Given the description of an element on the screen output the (x, y) to click on. 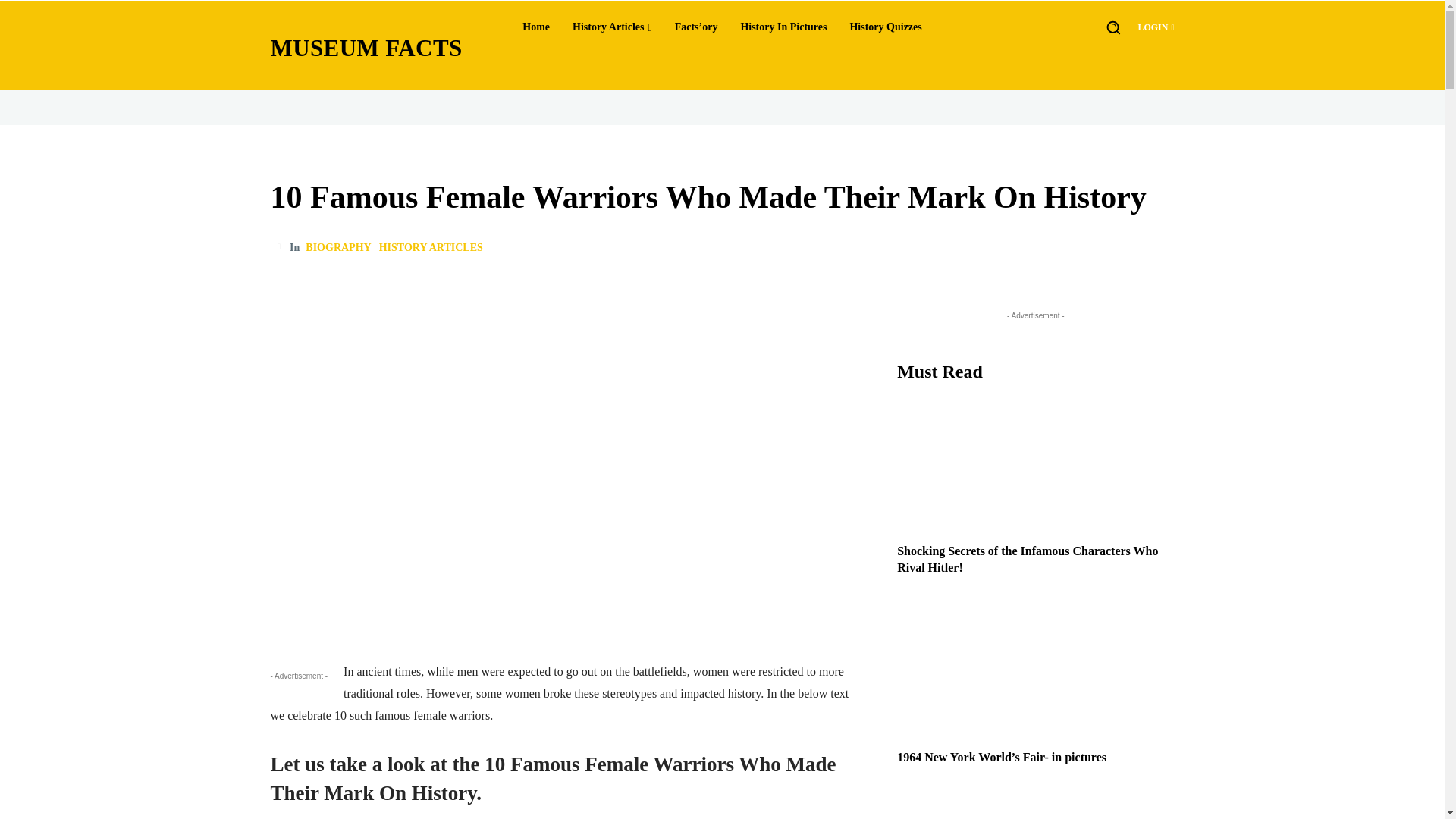
LOGIN (1155, 26)
Home (536, 26)
History In Pictures (783, 26)
History Quizzes (884, 26)
MUSEUM FACTS (366, 47)
History Articles (611, 26)
